Given the description of an element on the screen output the (x, y) to click on. 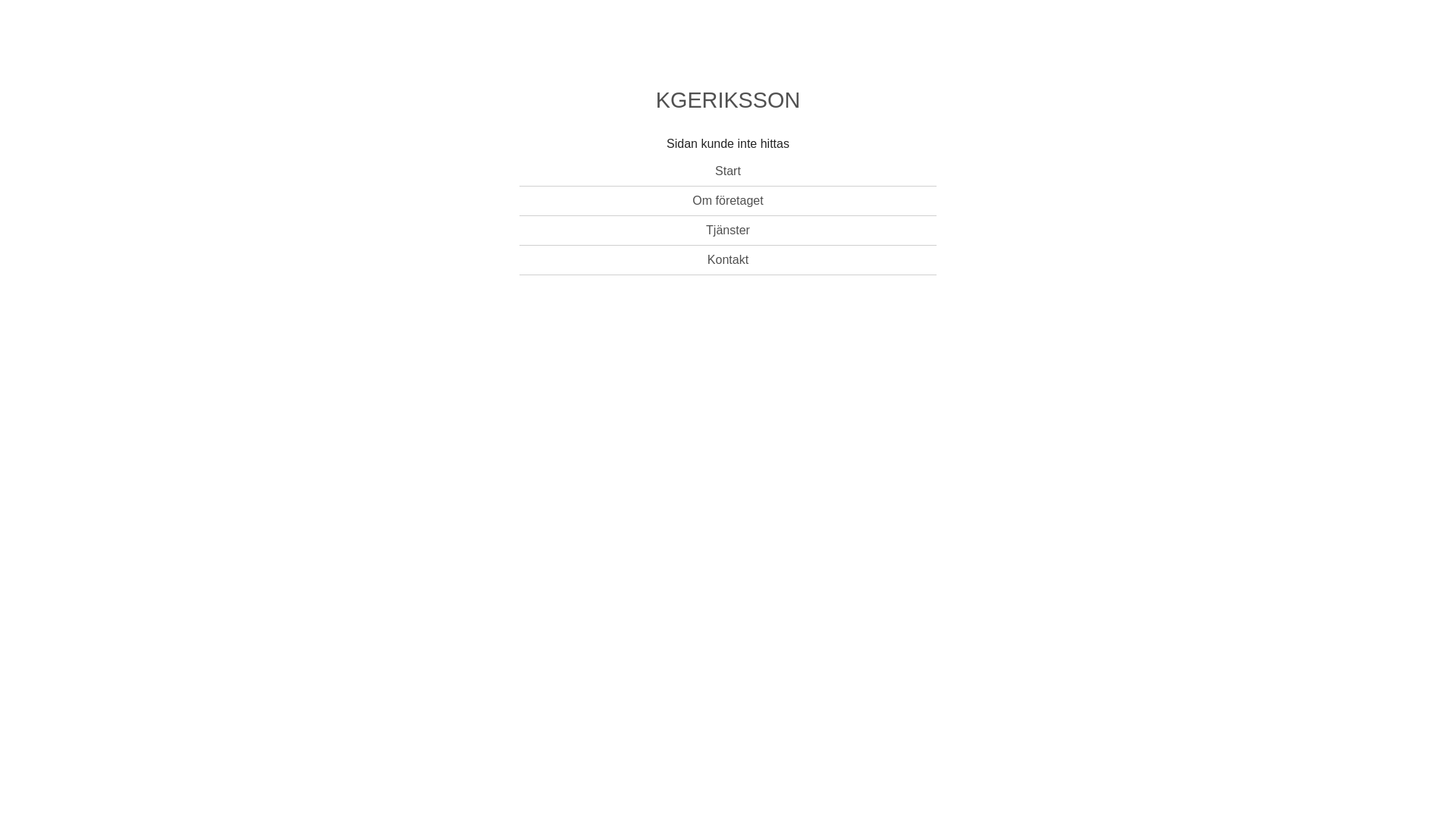
KGERIKSSON Element type: text (727, 103)
Kontakt Element type: text (727, 260)
Start Element type: text (727, 171)
